Given the description of an element on the screen output the (x, y) to click on. 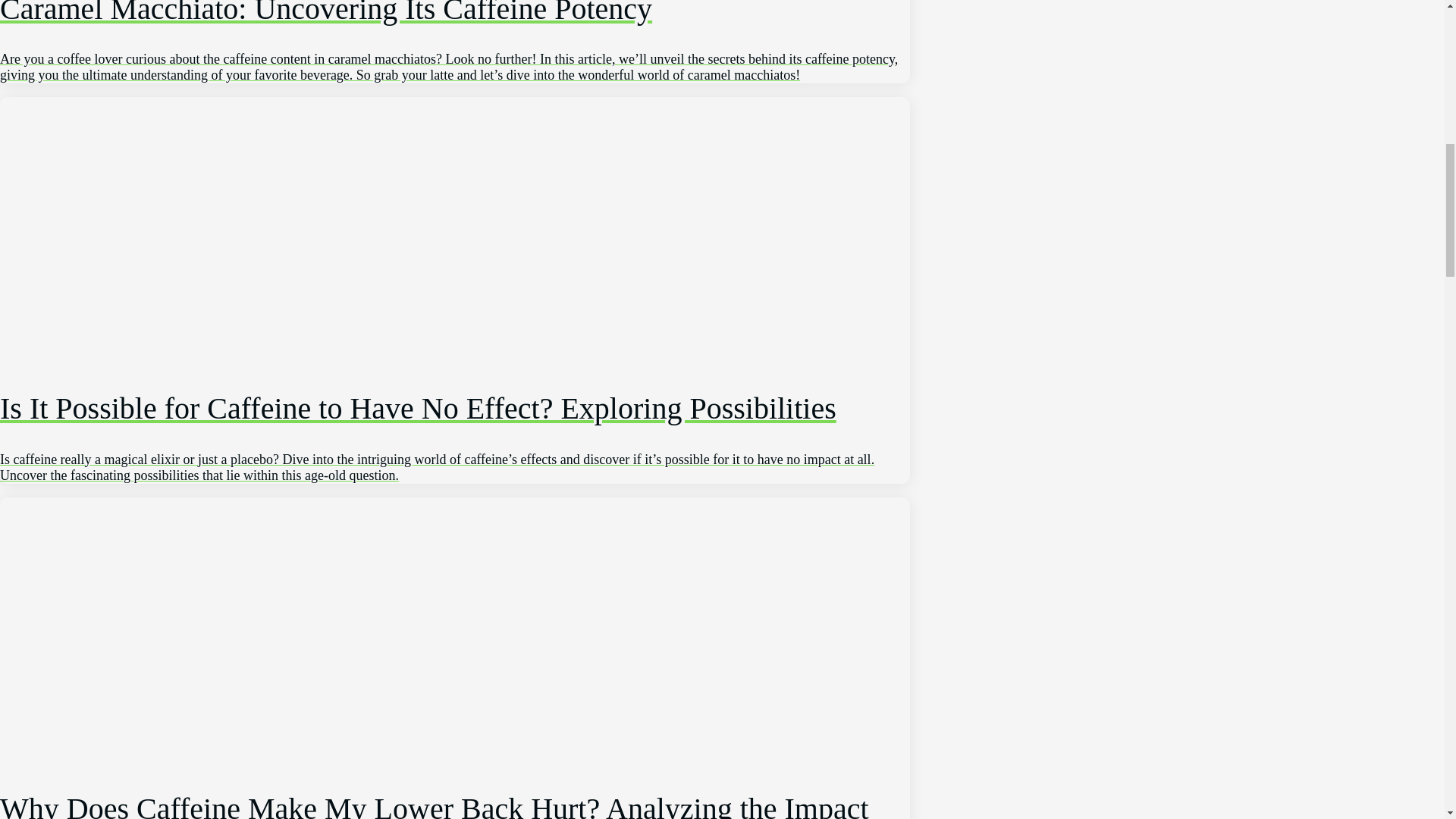
Caramel Macchiato: Uncovering Its Caffeine Potency (455, 41)
